Given the description of an element on the screen output the (x, y) to click on. 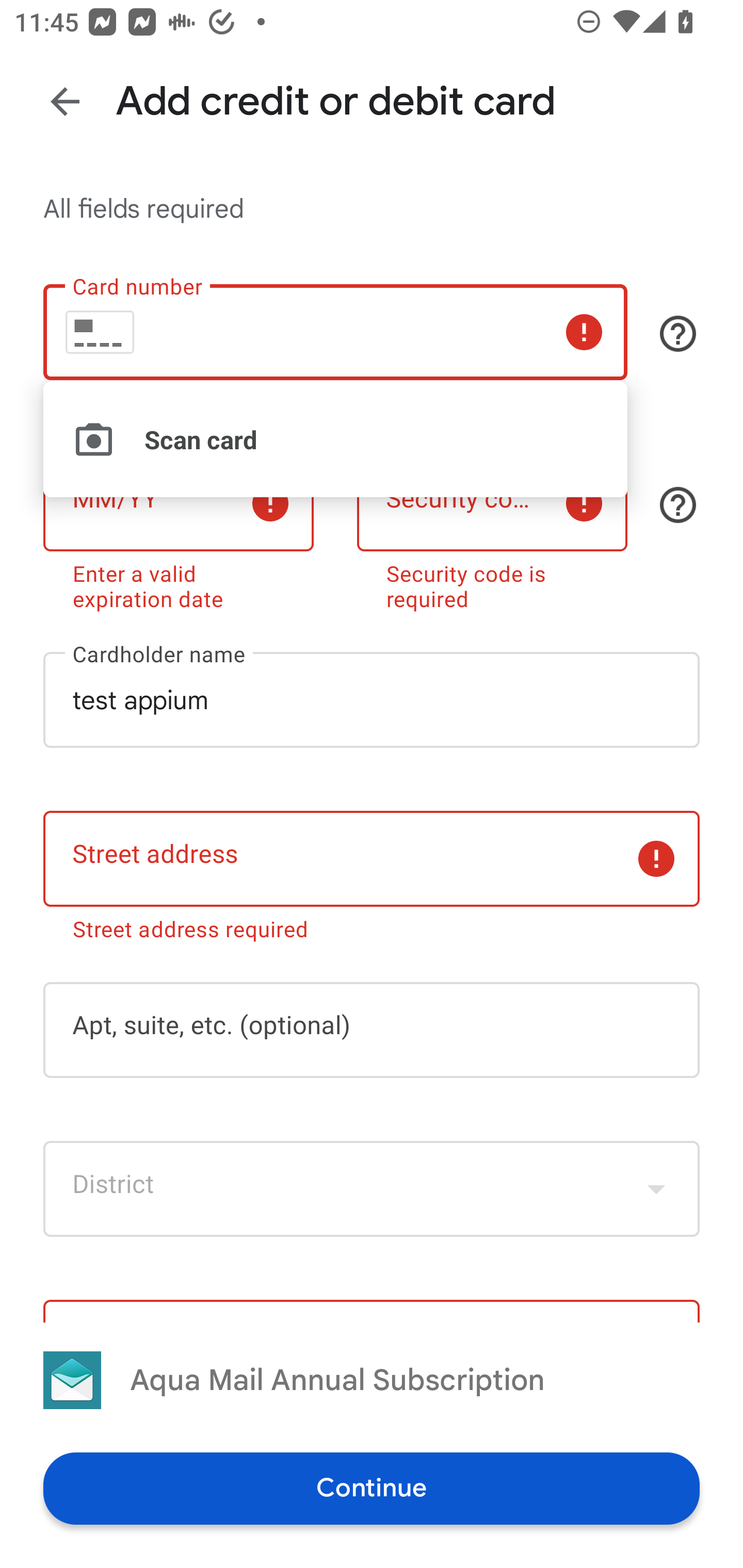
Back (64, 101)
Card number (335, 331)
Button, shows cards that are accepted for payment (677, 333)
Security code Error Security code is required (492, 529)
Security code help (677, 504)
test appium (371, 699)
Street address (371, 858)
Apt, suite, etc. (optional) (371, 1029)
District (371, 1189)
Show dropdown menu (655, 1189)
Continue (371, 1487)
